Given the description of an element on the screen output the (x, y) to click on. 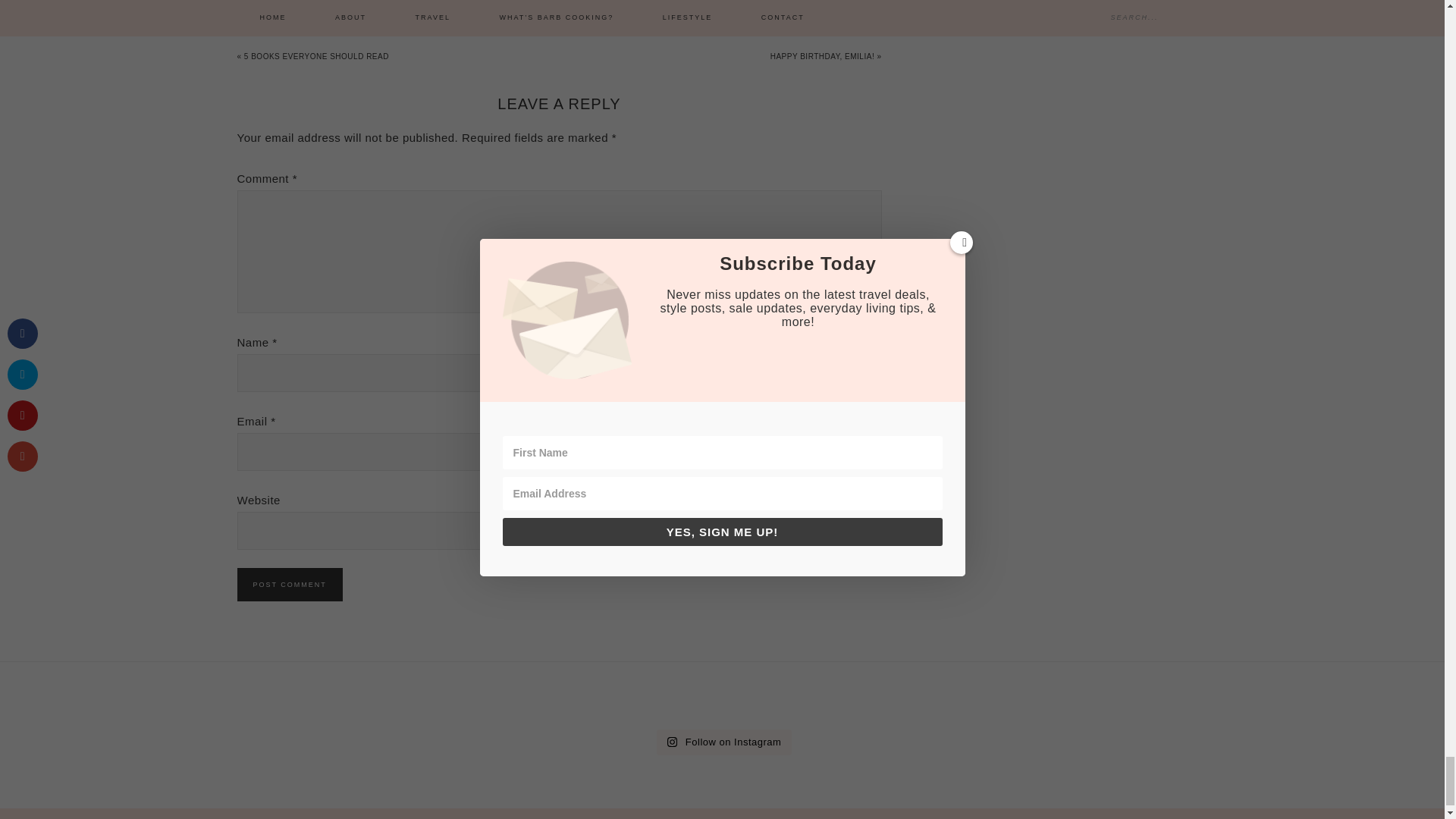
Post Comment (288, 584)
Post Comment (288, 584)
